Given the description of an element on the screen output the (x, y) to click on. 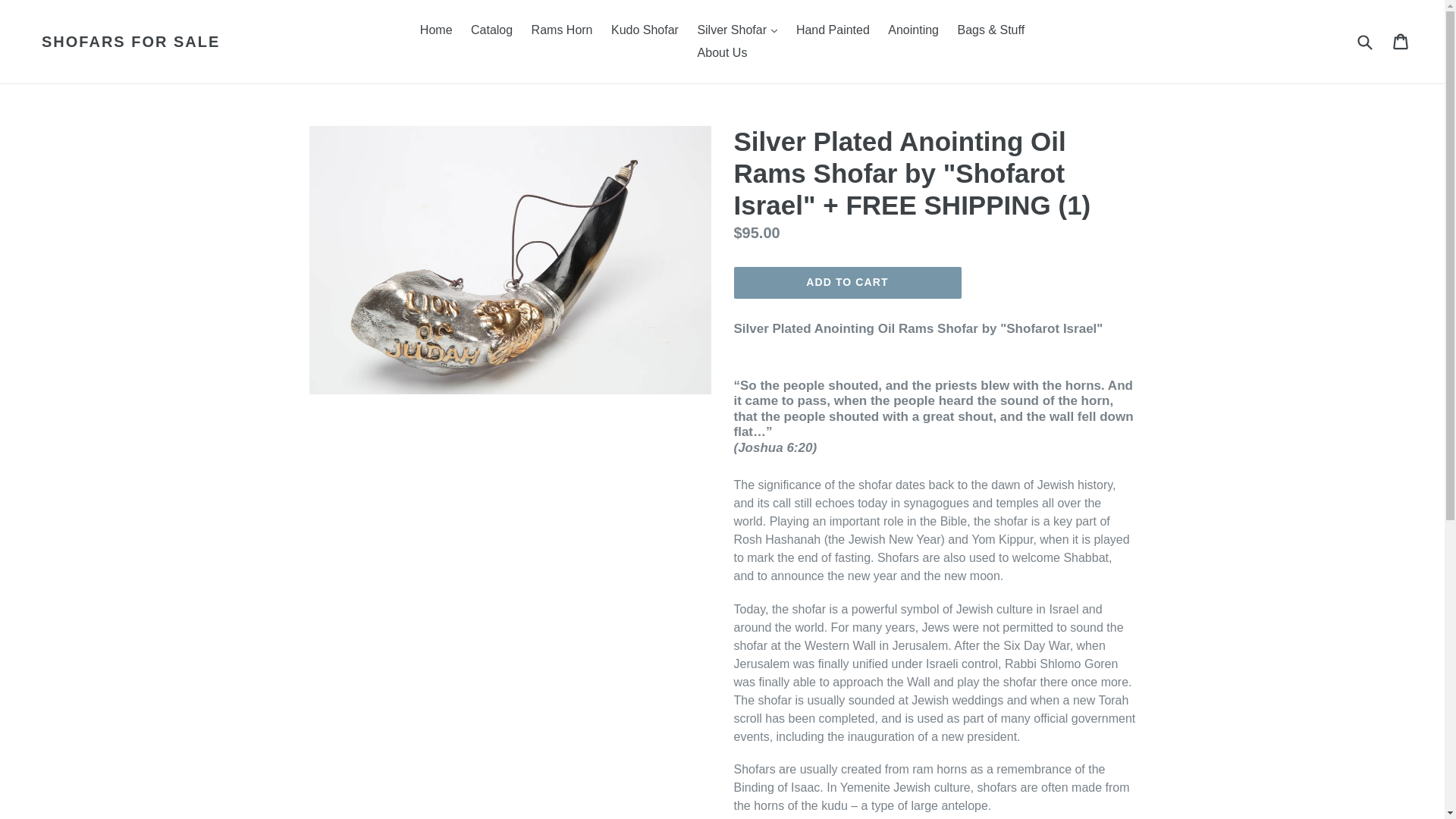
Hand Painted (833, 29)
SHOFARS FOR SALE (130, 41)
Kudo Shofar (644, 29)
About Us (722, 52)
Home (436, 29)
Anointing (913, 29)
Catalog (491, 29)
Rams Horn (561, 29)
ADD TO CART (846, 282)
